Given the description of an element on the screen output the (x, y) to click on. 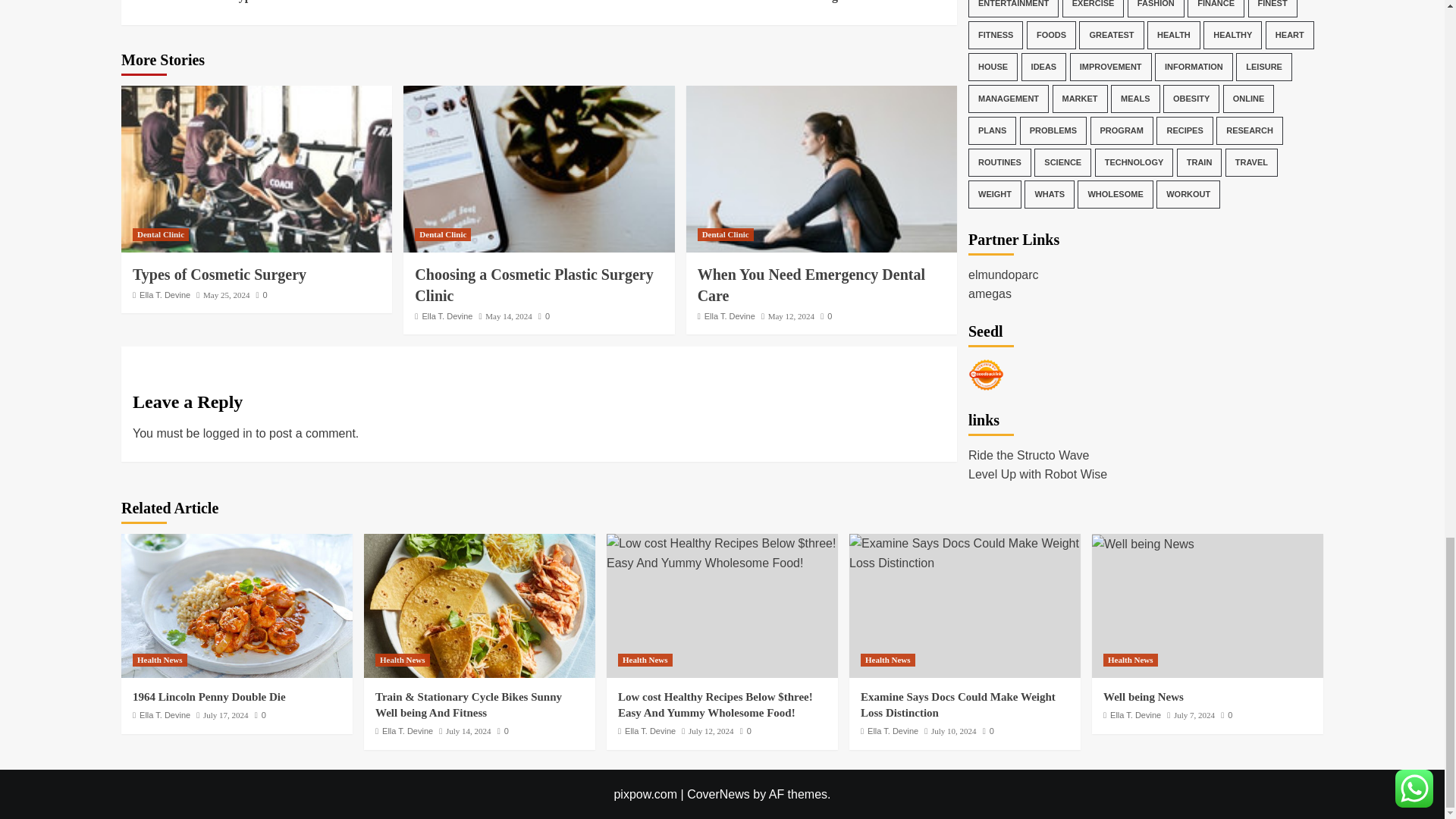
Seedbacklink (986, 25)
1964 Lincoln Penny Double Die (236, 605)
Dental Clinic (160, 234)
May 14, 2024 (741, 2)
Dental Clinic (507, 316)
May 25, 2024 (442, 234)
Choosing a Cosmetic Plastic Surgery Clinic (225, 294)
0 (538, 168)
Types of Cosmetic Surgery (544, 316)
When You Need Emergency Dental Care (218, 274)
Choosing a Cosmetic Plastic Surgery Clinic (820, 168)
Dental Clinic (533, 284)
0 (725, 234)
Types of Cosmetic Surgery (261, 294)
